Given the description of an element on the screen output the (x, y) to click on. 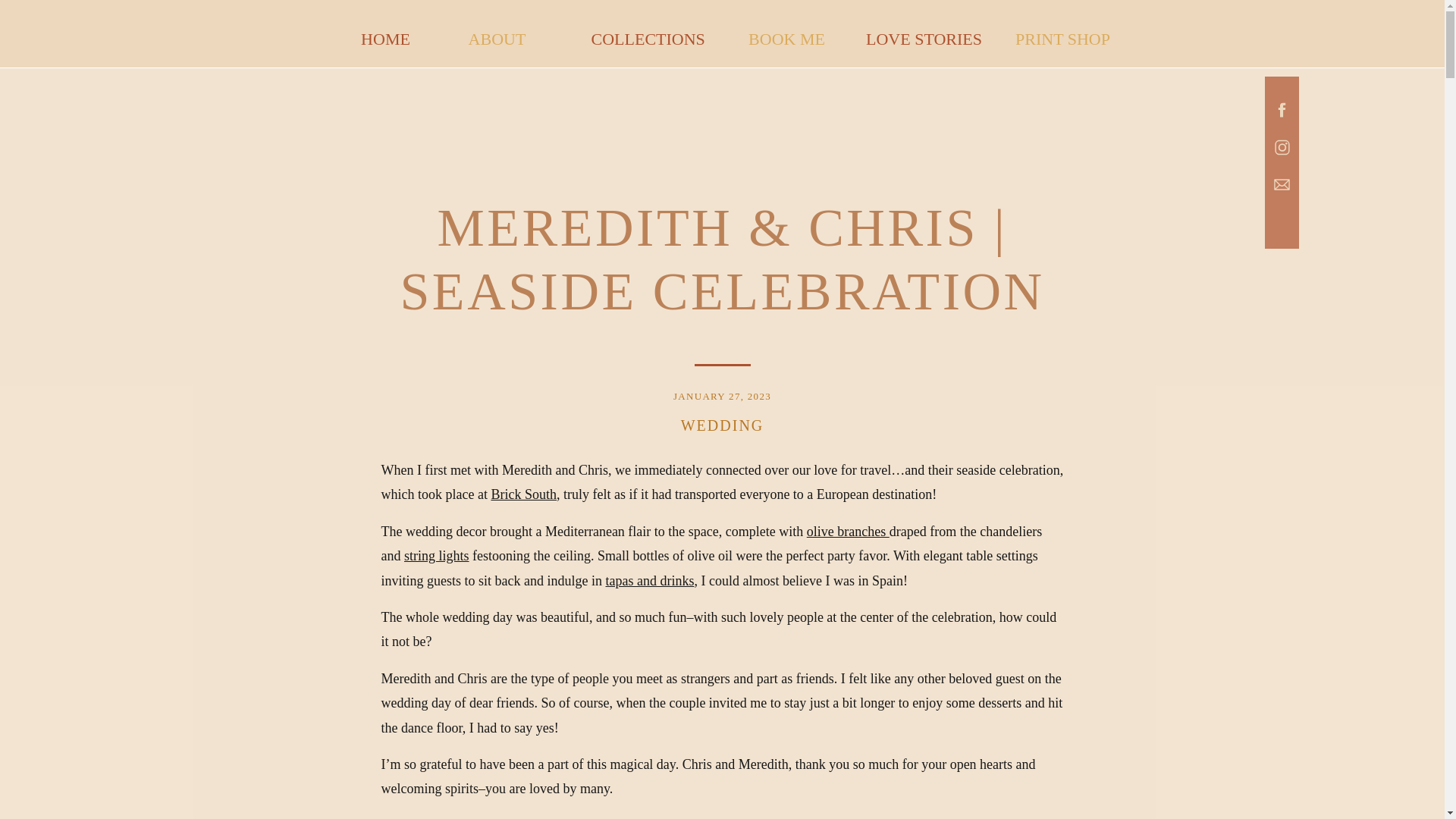
PRINT SHOP (1062, 34)
string lights (436, 555)
HOME (385, 34)
ABOUT (496, 34)
WEDDING (722, 425)
olive branches (847, 531)
BOOK ME (785, 34)
tapas and drinks (649, 580)
LOVE STORIES (924, 34)
COLLECTIONS (651, 34)
